Given the description of an element on the screen output the (x, y) to click on. 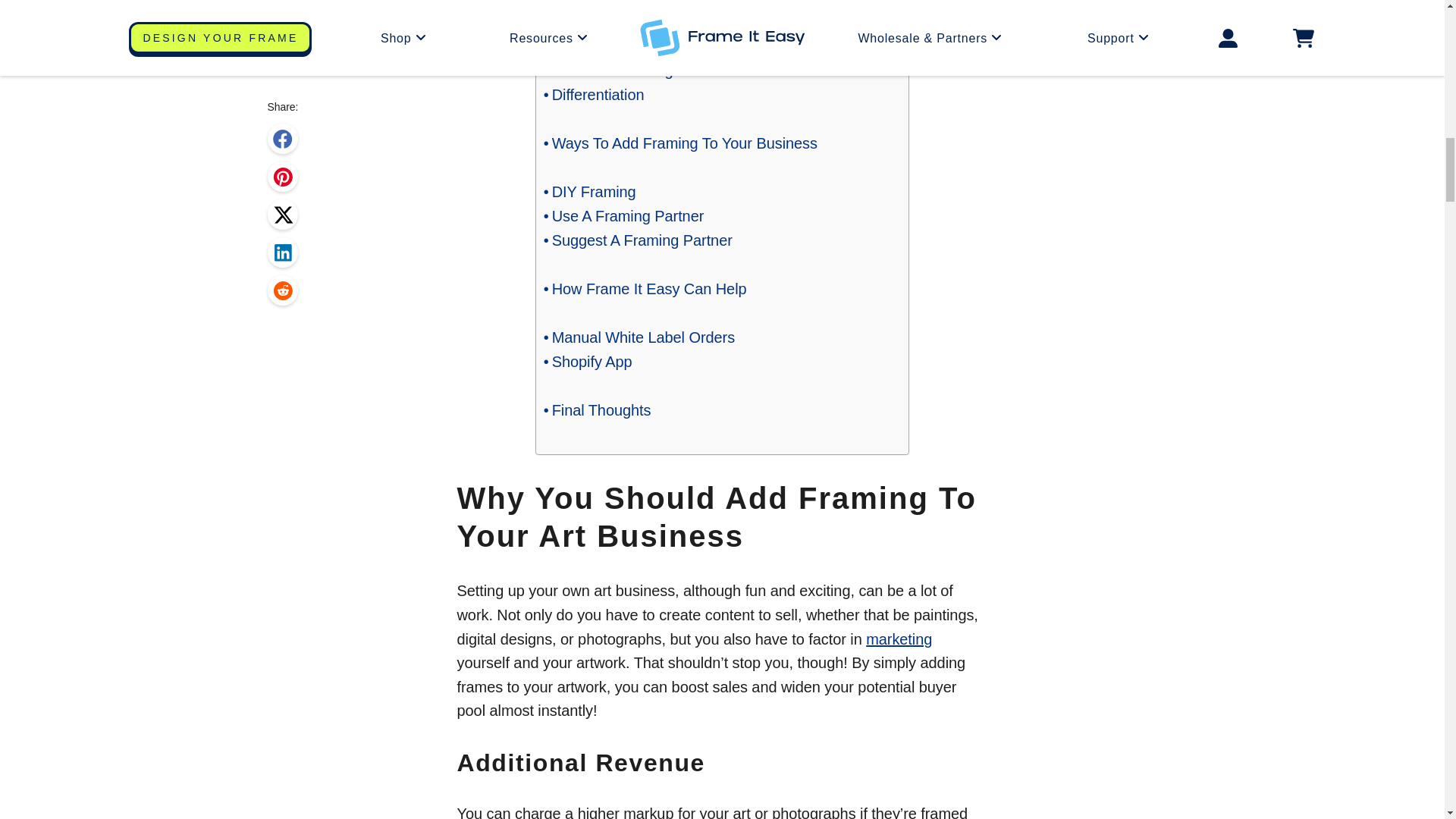
Suggest A Framing Partner (637, 240)
Shopify App (587, 361)
DIY Framing (589, 191)
How Frame It Easy Can Help (644, 288)
Additional Revenue (612, 21)
Use A Framing Partner  (623, 215)
Differentiation (594, 94)
Ways To Add Framing To Your Business (679, 143)
Fewer Purchasing Barriers (636, 70)
Perceived Value (602, 46)
Manual White Label Orders (639, 337)
